Given the description of an element on the screen output the (x, y) to click on. 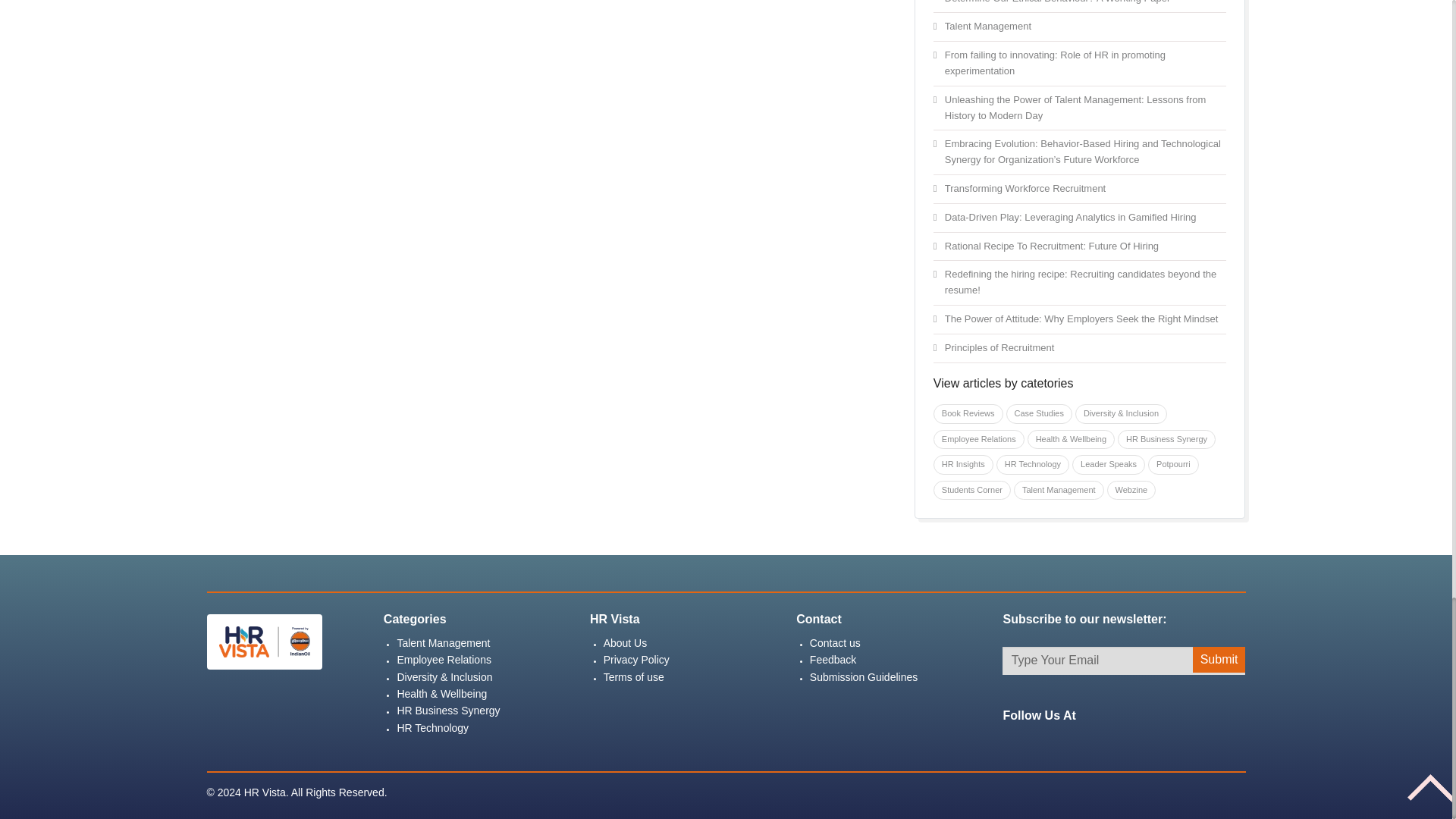
Submit (1219, 659)
